Given the description of an element on the screen output the (x, y) to click on. 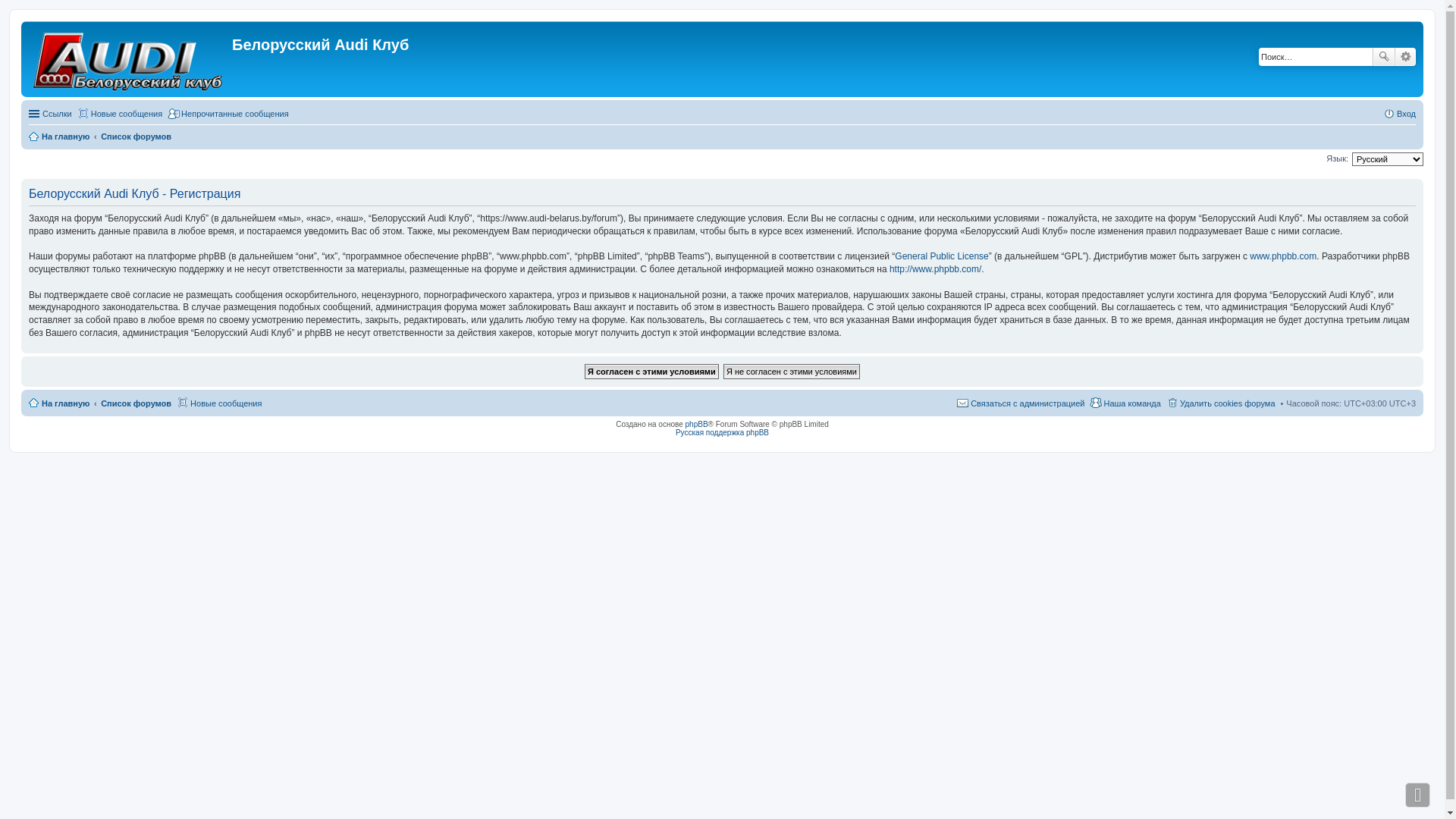
General Public License Element type: text (941, 256)
phpBB Element type: text (696, 424)
http://www.phpbb.com/ Element type: text (935, 268)
www.phpbb.com Element type: text (1282, 256)
